Given the description of an element on the screen output the (x, y) to click on. 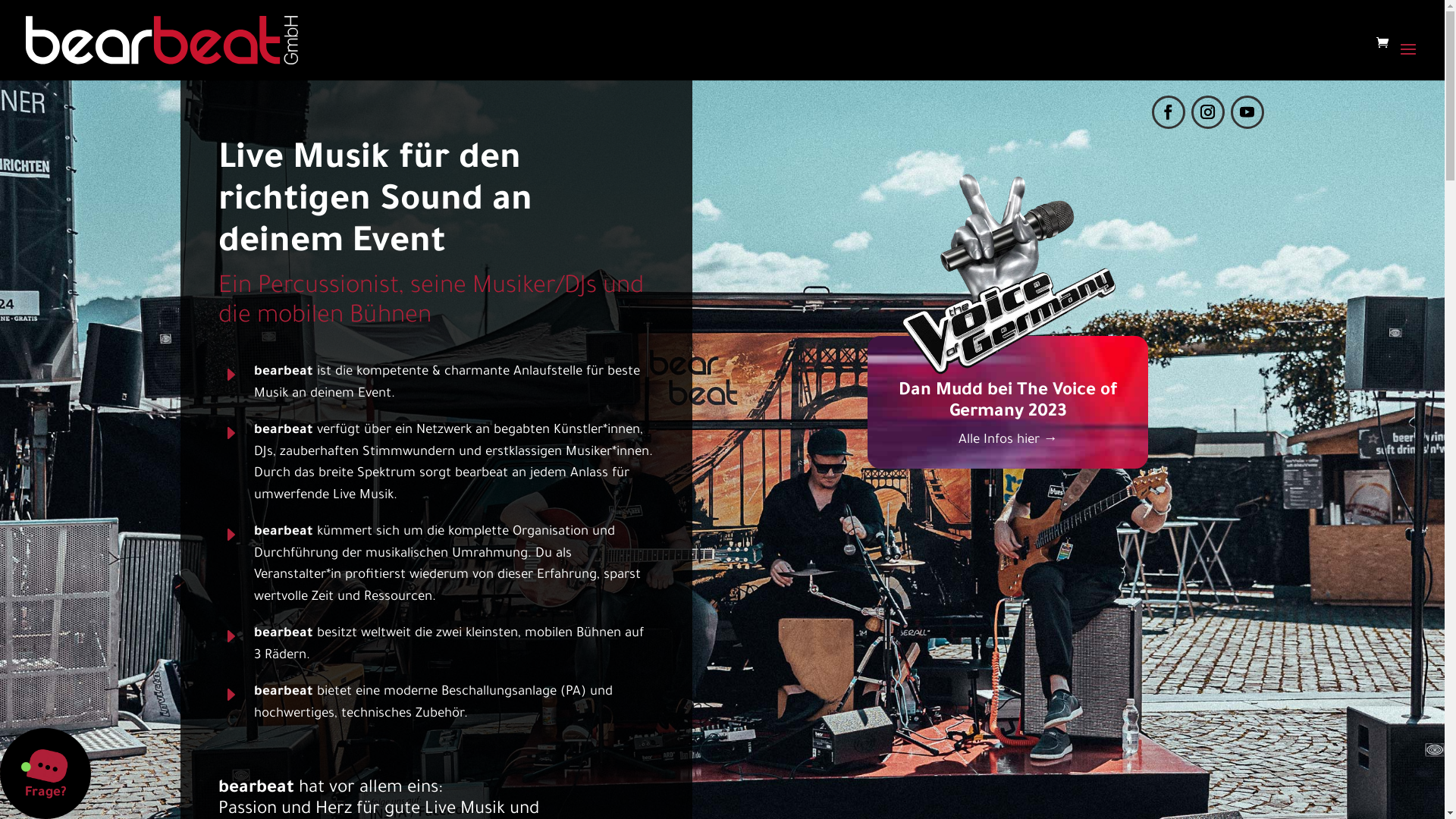
dan-mudd_thevoiceofgermany_logo Element type: hover (1007, 379)
Folge auf Youtube Element type: hover (1247, 111)
Folge auf Instagram Element type: hover (1207, 111)
Folge auf Facebook Element type: hover (1168, 111)
